Given the description of an element on the screen output the (x, y) to click on. 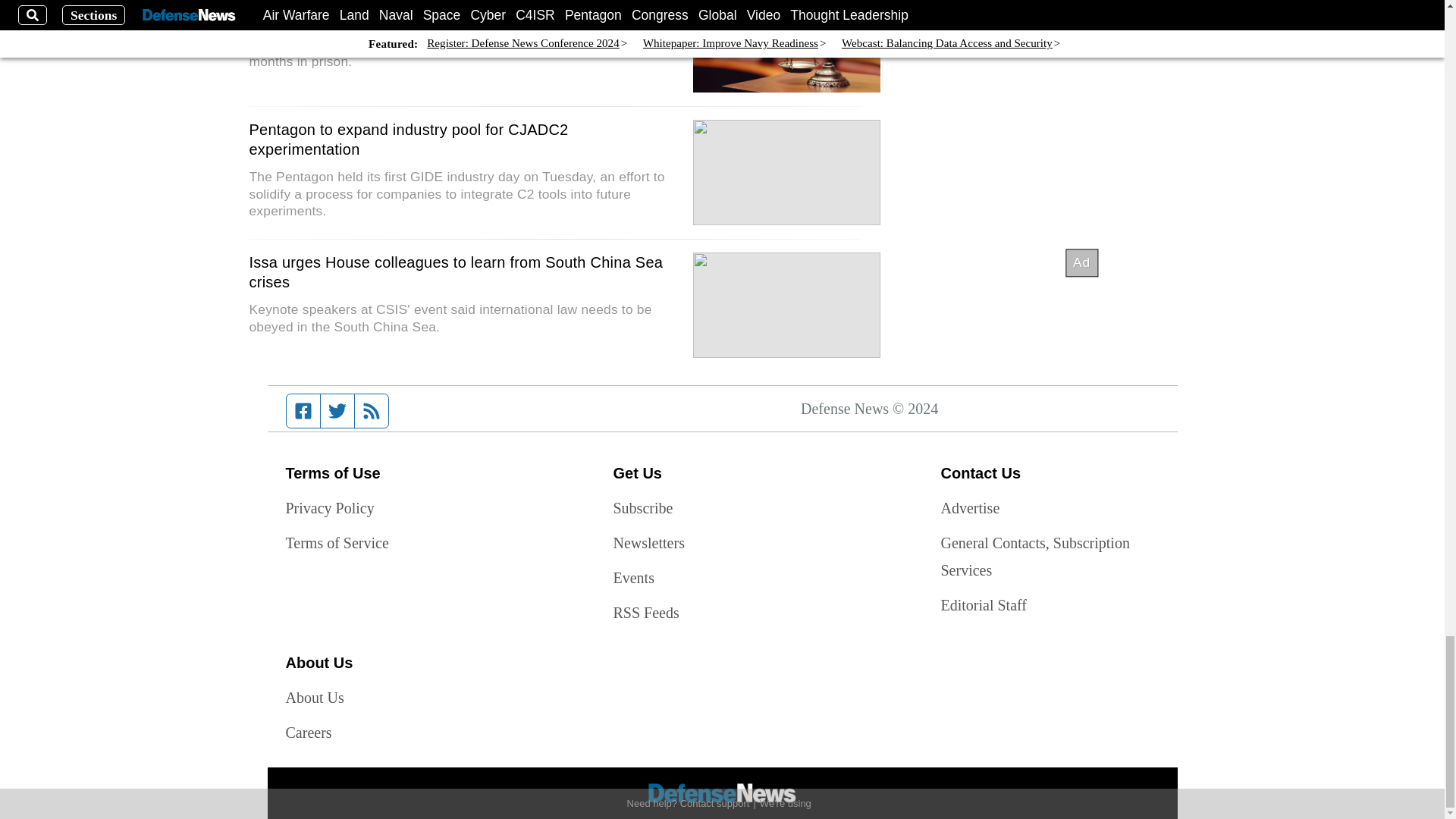
Twitter feed (336, 410)
Facebook page (303, 410)
RSS feed (371, 410)
